Given the description of an element on the screen output the (x, y) to click on. 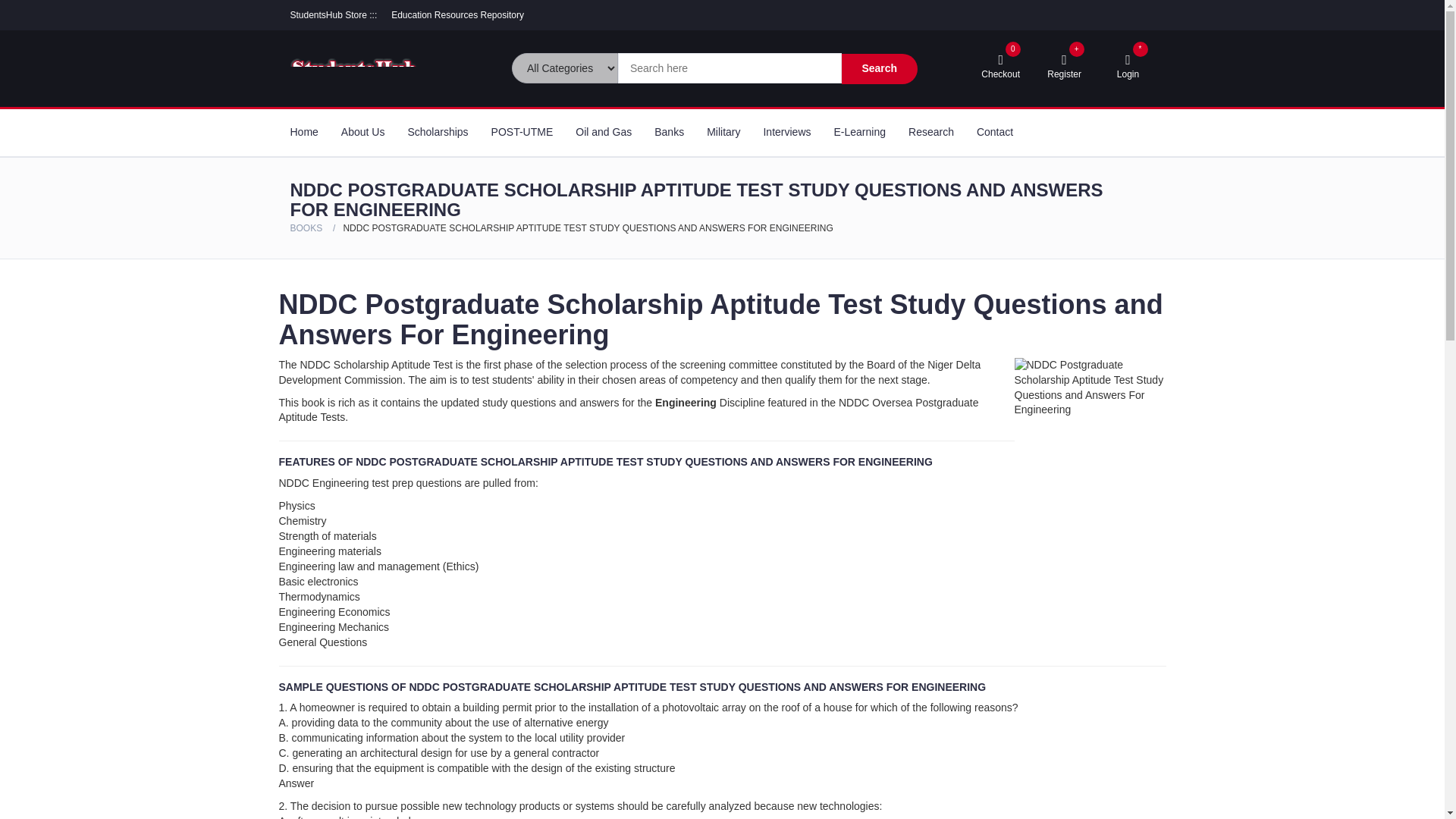
BOOKS (305, 227)
About Us (362, 132)
E-Learning and Online Test Practice Packs (860, 132)
E-Learning (860, 132)
Education Resources Repository (1000, 67)
StudentsHub Store ::: (457, 14)
post utme past questions and answers (333, 14)
Research (522, 132)
POST-UTME (930, 132)
